Given the description of an element on the screen output the (x, y) to click on. 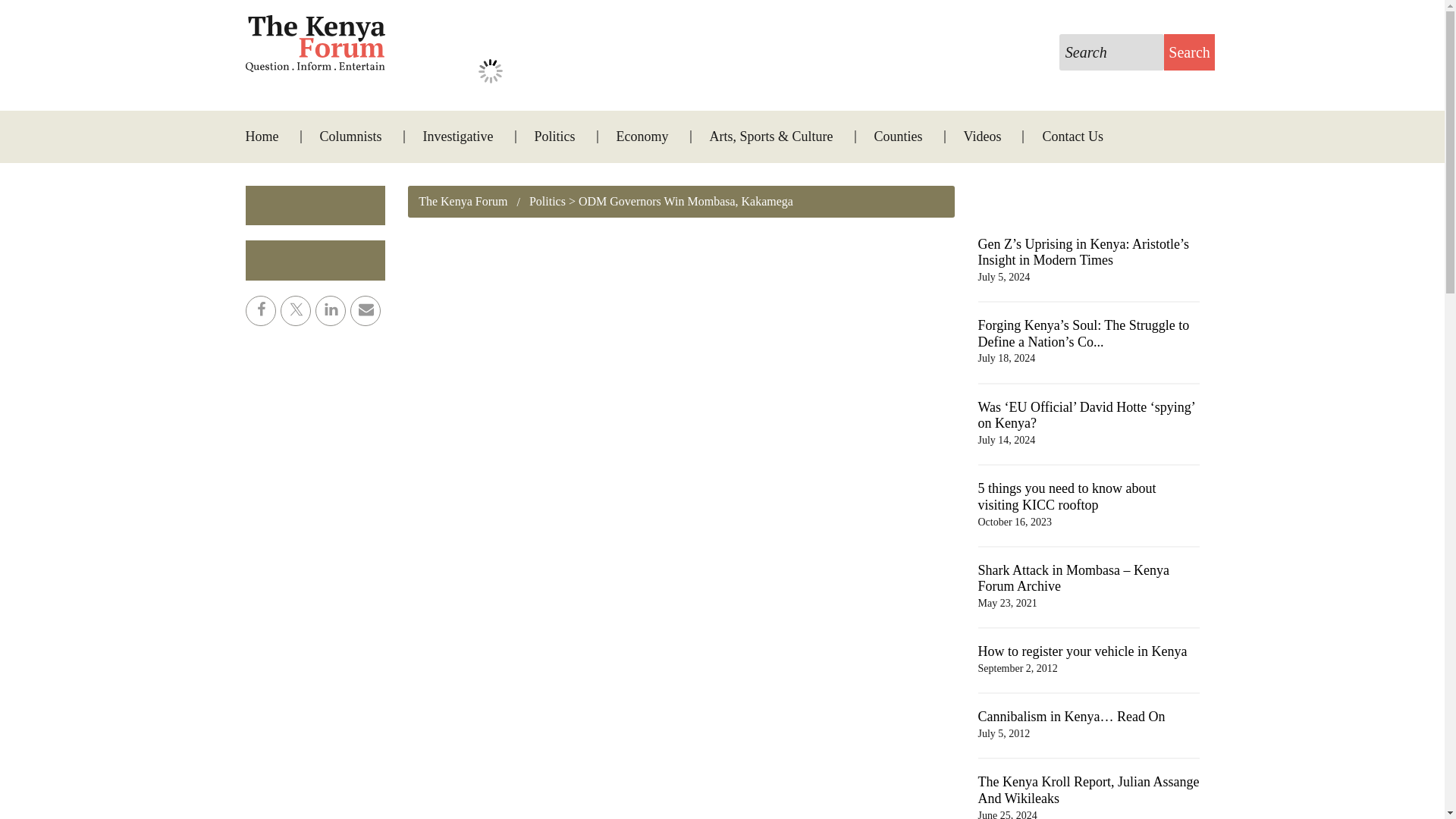
Counties (898, 135)
Columnists (350, 135)
Share on LinkedIn (330, 310)
Search (1188, 52)
Kenya Forum (315, 43)
Economy (642, 135)
Share on Twitter (296, 310)
The Kenya Forum (462, 201)
Videos (982, 135)
Politics (535, 201)
Politics (555, 135)
Investigative (458, 135)
ODM Governors win Mombasa, Kakamega (490, 71)
Home (271, 135)
Search (1188, 52)
